Given the description of an element on the screen output the (x, y) to click on. 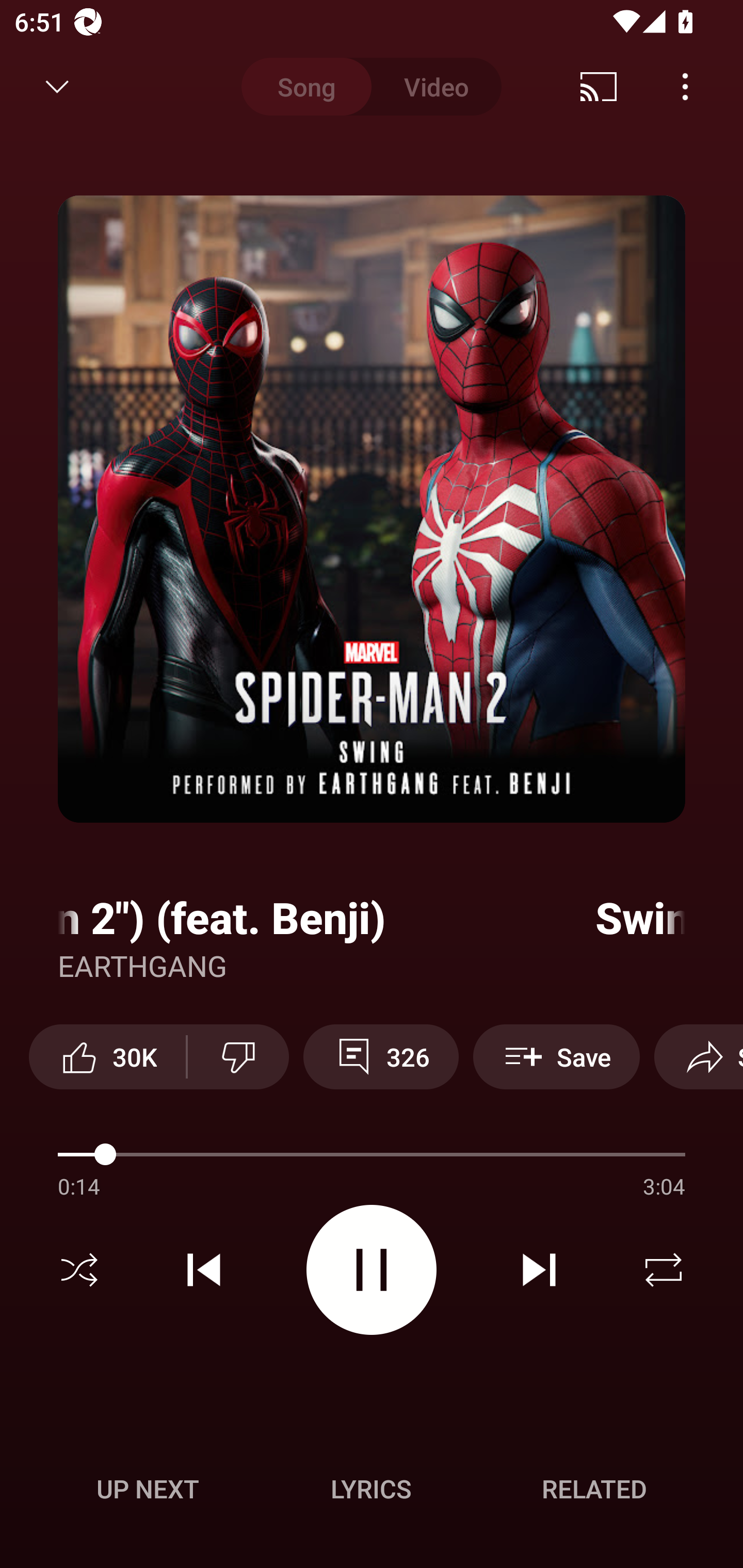
Minimize (57, 86)
Cast. Disconnected (598, 86)
Menu (684, 86)
30K like this video along with 30,883 other people (106, 1056)
Dislike (238, 1056)
326 View 326 comments (380, 1056)
Save Save to playlist (556, 1056)
Share (698, 1056)
Pause video (371, 1269)
Shuffle off (79, 1269)
Previous track (203, 1269)
Next track (538, 1269)
Repeat off (663, 1269)
Up next UP NEXT Lyrics LYRICS Related RELATED (371, 1491)
Lyrics LYRICS (370, 1488)
Related RELATED (594, 1488)
